Given the description of an element on the screen output the (x, y) to click on. 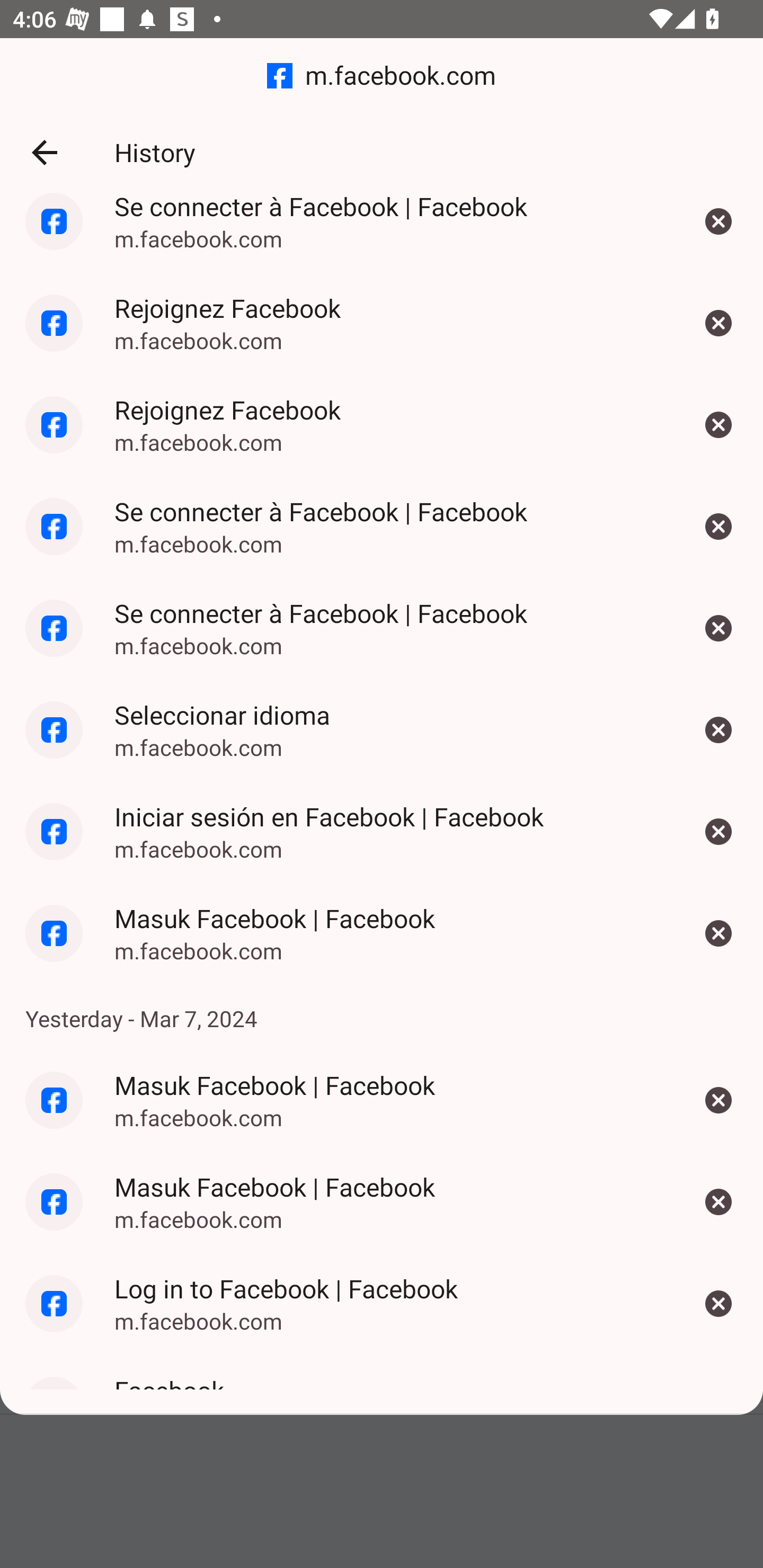
m.facebook.com (381, 75)
Back (44, 152)
Se connecter à Facebook | Facebook Remove (718, 231)
Rejoignez Facebook Remove (718, 323)
Rejoignez Facebook Remove (718, 424)
Se connecter à Facebook | Facebook Remove (718, 526)
Se connecter à Facebook | Facebook Remove (718, 627)
Seleccionar idioma Remove (718, 729)
Iniciar sesión en Facebook | Facebook Remove (718, 831)
Masuk Facebook | Facebook Remove (718, 933)
Masuk Facebook | Facebook Remove (718, 1099)
Masuk Facebook | Facebook Remove (718, 1201)
Log in to Facebook | Facebook Remove (718, 1303)
